Given the description of an element on the screen output the (x, y) to click on. 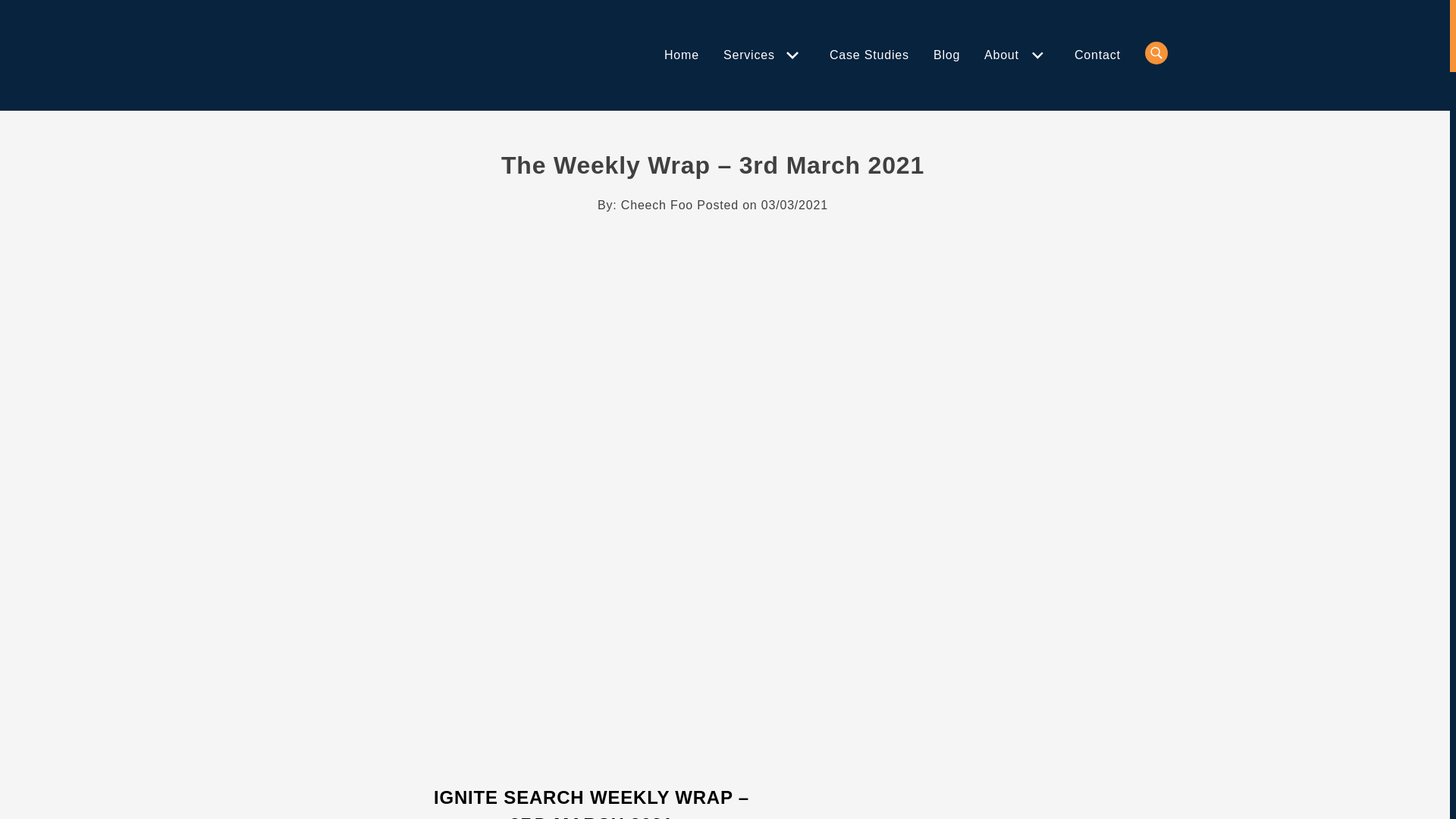
03/03/2021 Element type: text (794, 204)
About Element type: text (1005, 55)
Ignite Search Element type: text (318, 64)
Share by Facebook Element type: hover (686, 242)
Share by Email Element type: hover (741, 242)
Case Studies Element type: text (869, 55)
Services Element type: text (751, 55)
Share by Linkedin Element type: hover (659, 242)
Share by Twitter Element type: hover (714, 242)
Home Element type: text (681, 55)
Blog Element type: text (946, 55)
Cheech Foo Element type: text (657, 204)
Contact Element type: text (1097, 55)
